Given the description of an element on the screen output the (x, y) to click on. 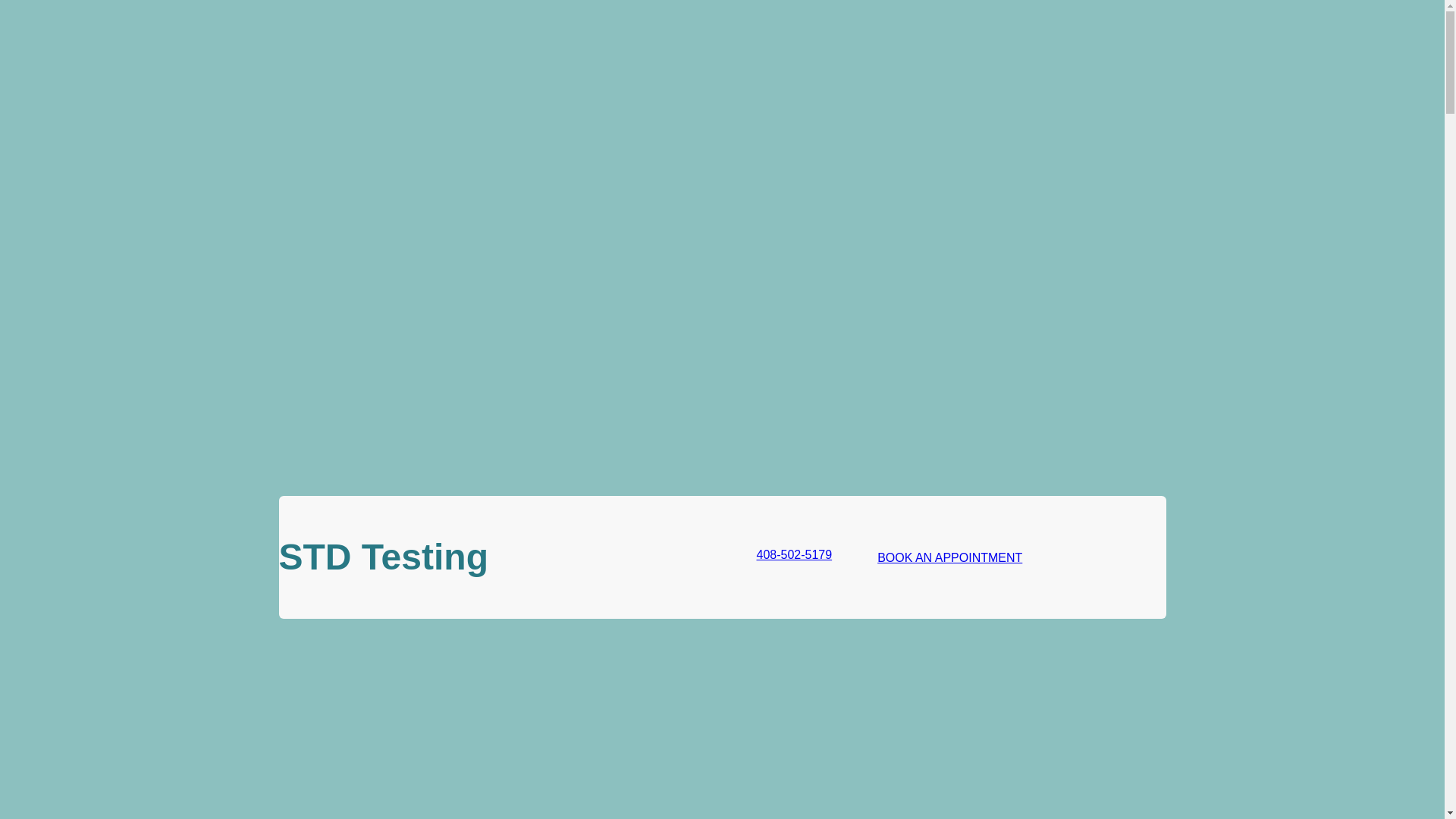
BOOK AN APPOINTMENT (949, 557)
408-502-5179 (782, 557)
